Given the description of an element on the screen output the (x, y) to click on. 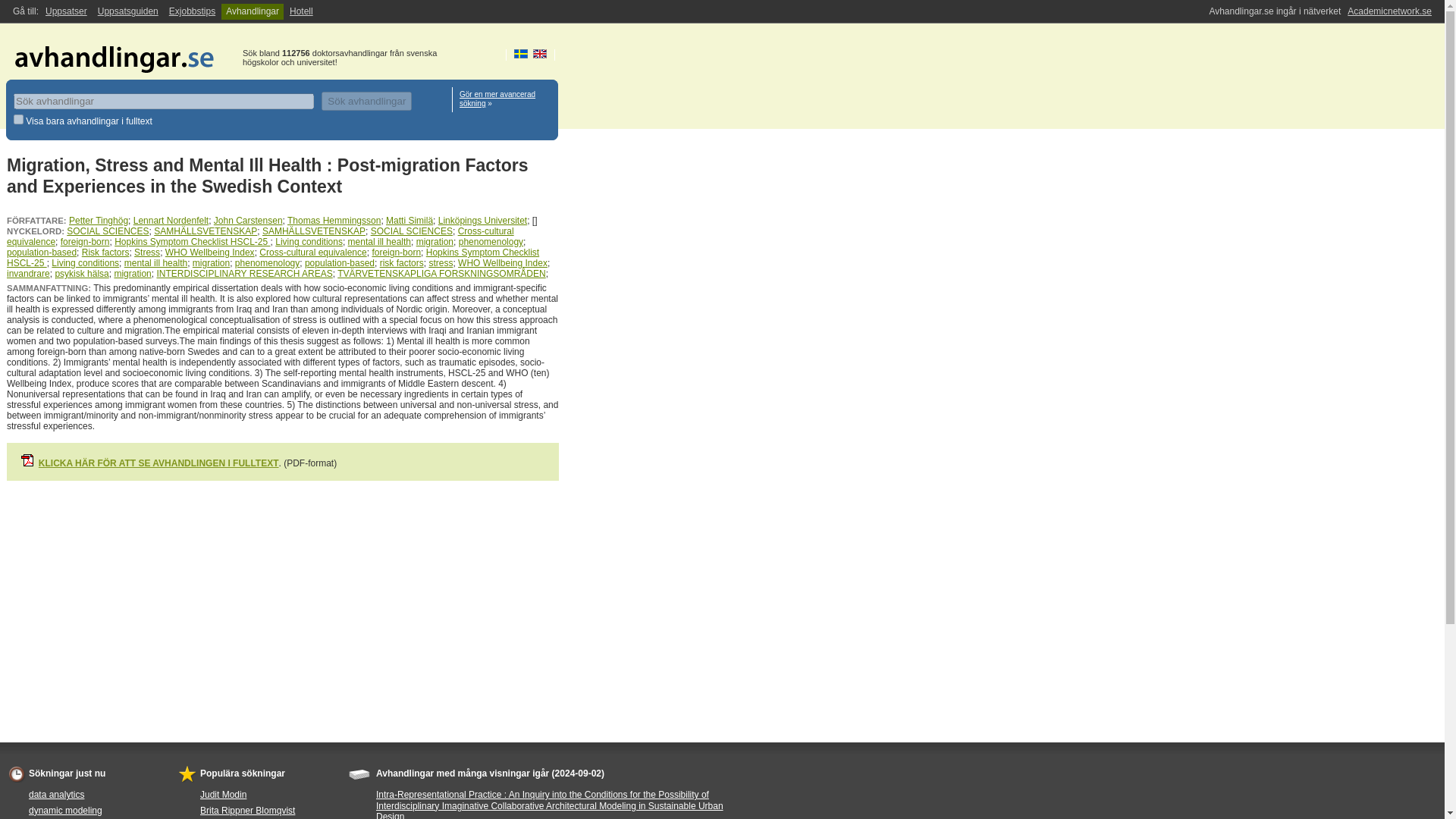
population-based (339, 262)
migration (434, 241)
John Carstensen (248, 220)
SOCIAL SCIENCES (411, 231)
foreign-born (395, 252)
WHO Wellbeing Index (209, 252)
population-based (42, 252)
Avhandlingar (252, 11)
Risk factors (105, 252)
Academicnetwork.se (1388, 11)
